Given the description of an element on the screen output the (x, y) to click on. 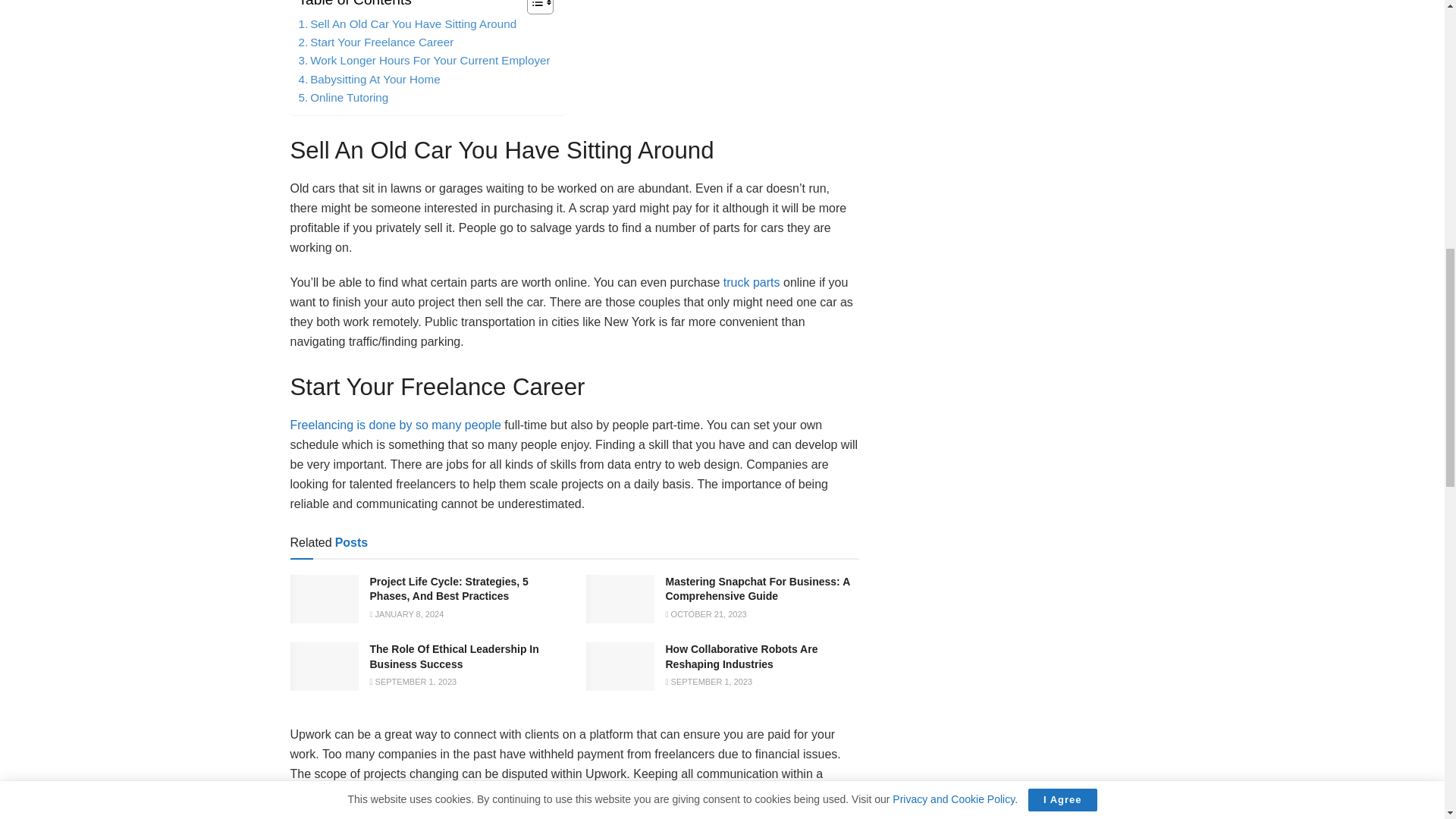
Babysitting At Your Home (369, 79)
Work Longer Hours For Your Current Employer (424, 60)
Start Your Freelance Career (376, 42)
Sell An Old Car You Have Sitting Around (407, 24)
Online Tutoring (343, 97)
